Given the description of an element on the screen output the (x, y) to click on. 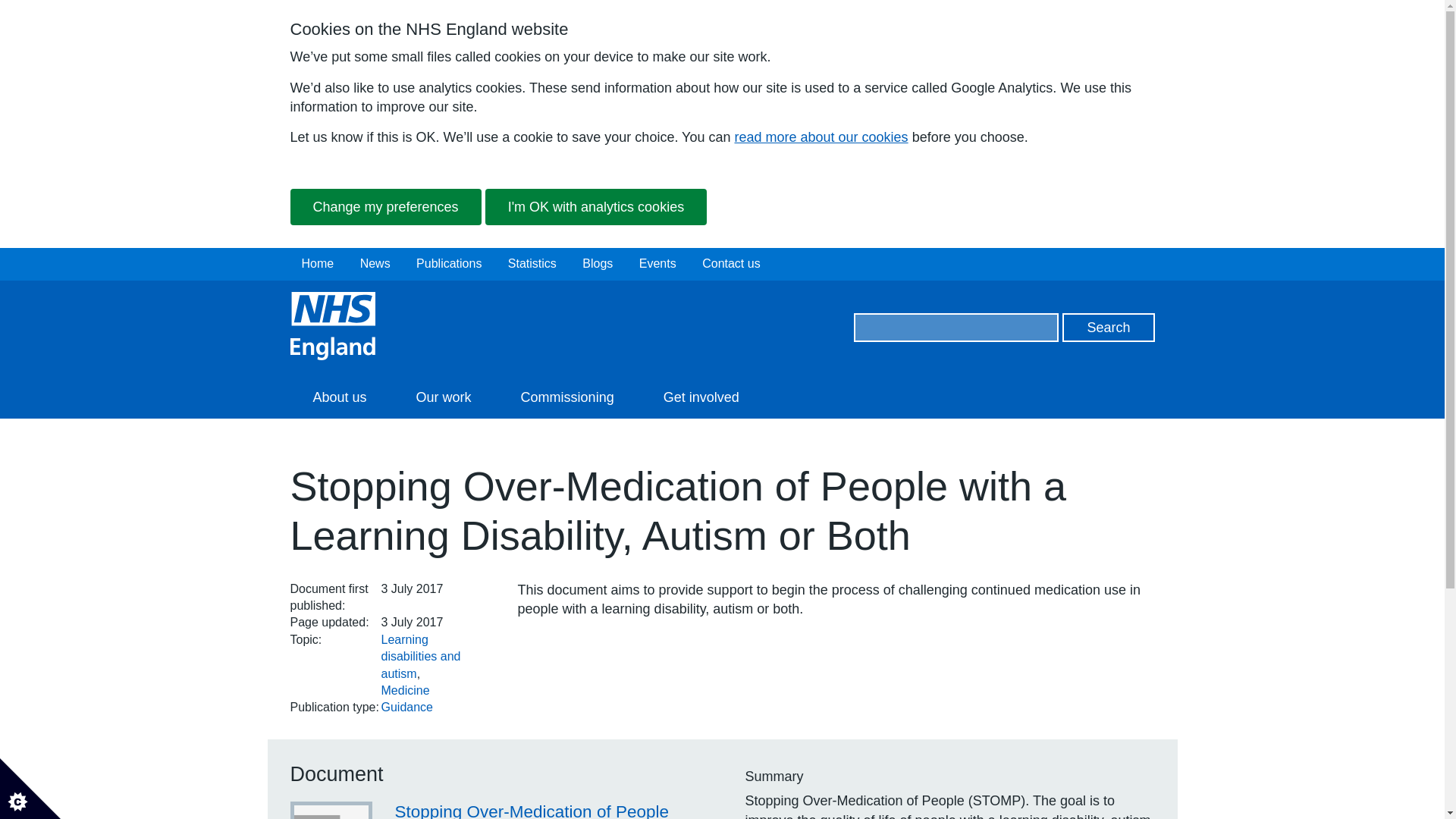
Commissioning (567, 397)
Statistics (532, 263)
News (374, 263)
Get involved (700, 397)
Medicine (404, 689)
Publications (448, 263)
About us (338, 397)
Change my preferences (384, 207)
Contact us (730, 263)
Publications (448, 263)
Search (1108, 327)
Commissioning (567, 397)
Our work (444, 397)
News (374, 263)
